Given the description of an element on the screen output the (x, y) to click on. 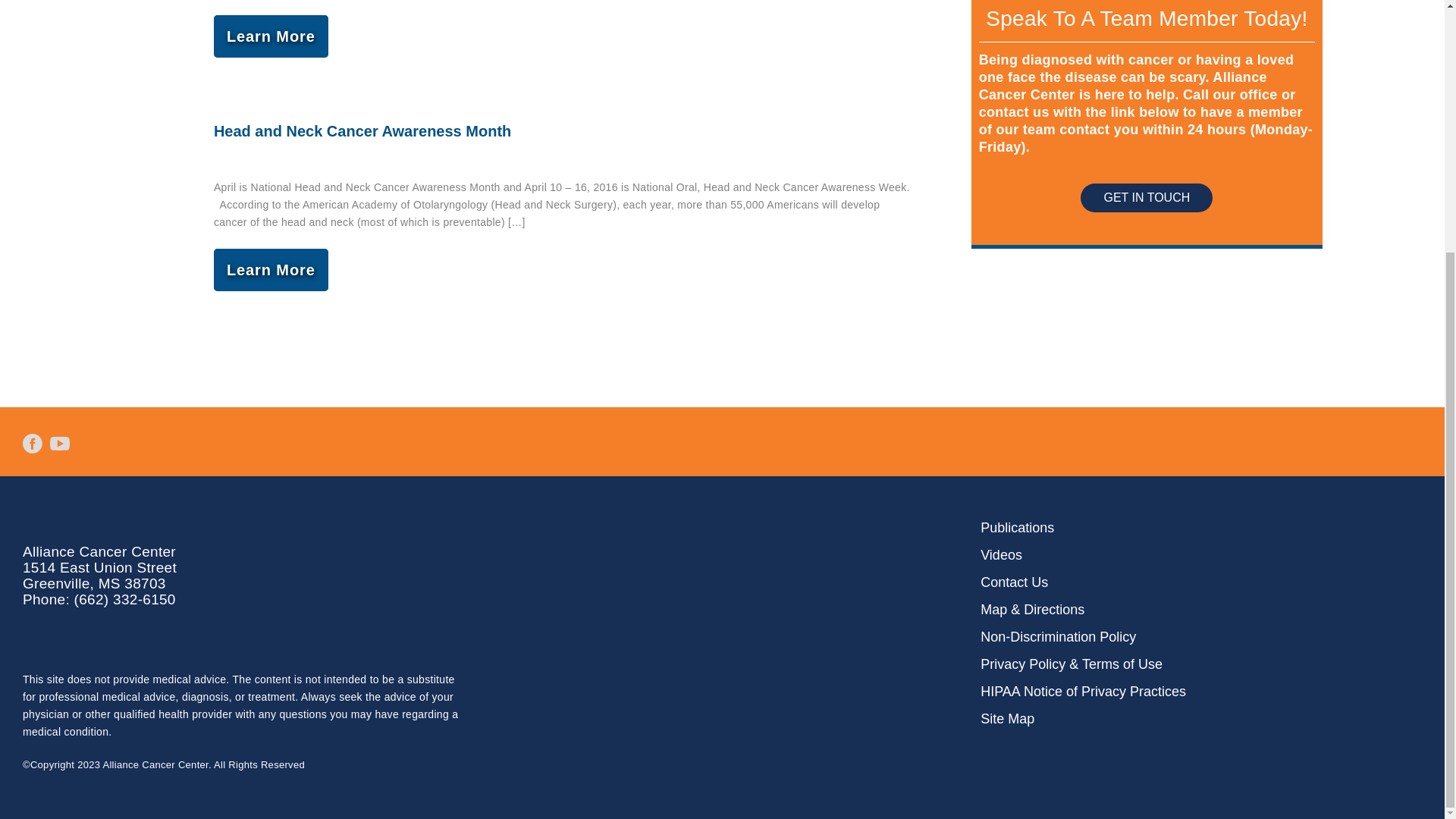
Youtube (60, 443)
Facebook (32, 443)
